Given the description of an element on the screen output the (x, y) to click on. 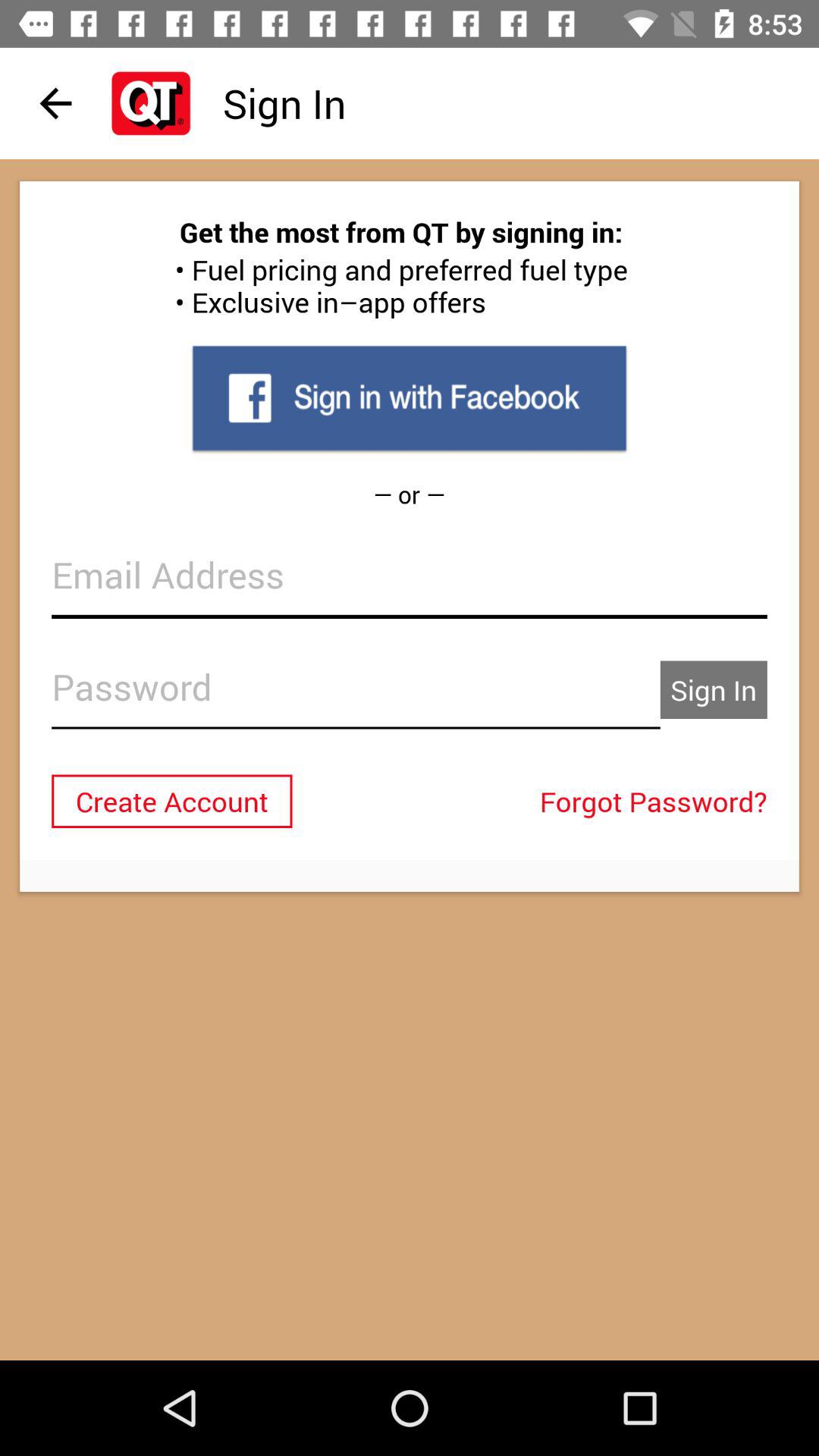
click the icon next to create account (657, 801)
